Given the description of an element on the screen output the (x, y) to click on. 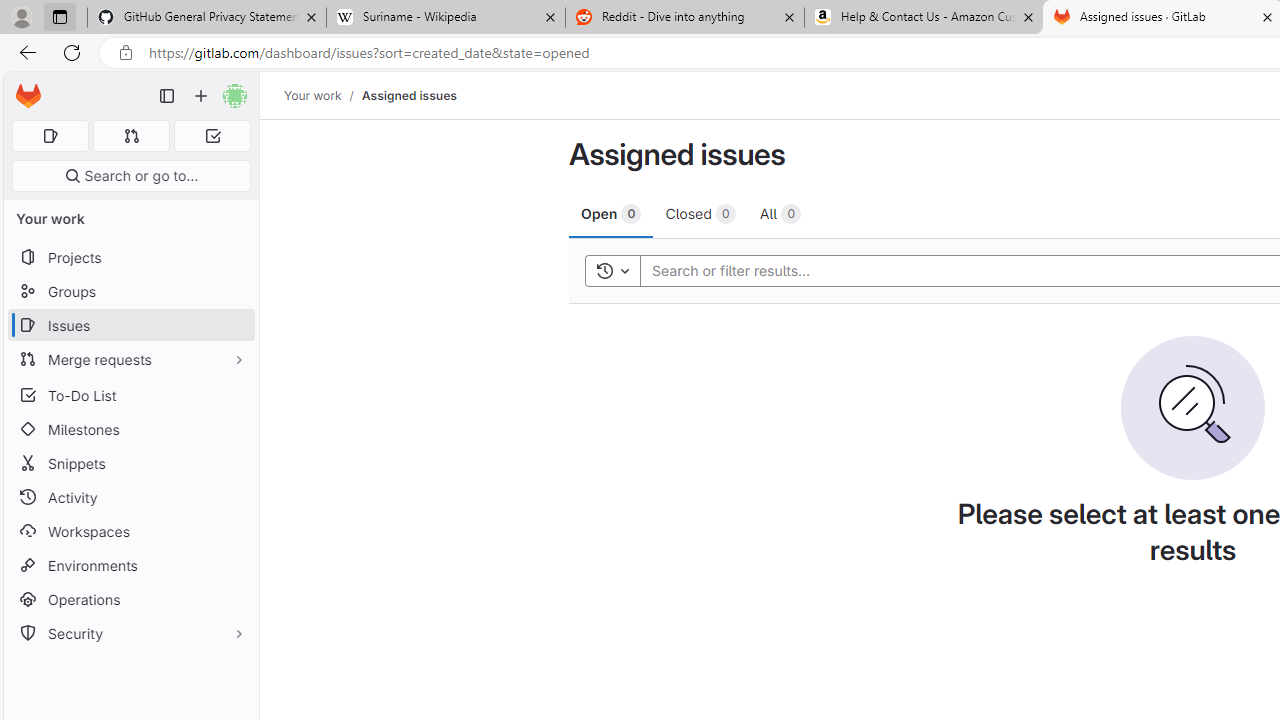
Assigned issues (408, 95)
Open 0 (611, 213)
Groups (130, 291)
Your work/ (323, 95)
Your work (312, 95)
Merge requests 0 (131, 136)
Snippets (130, 463)
Environments (130, 564)
Primary navigation sidebar (167, 96)
Issues (130, 325)
Operations (130, 599)
Merge requests (130, 358)
